Given the description of an element on the screen output the (x, y) to click on. 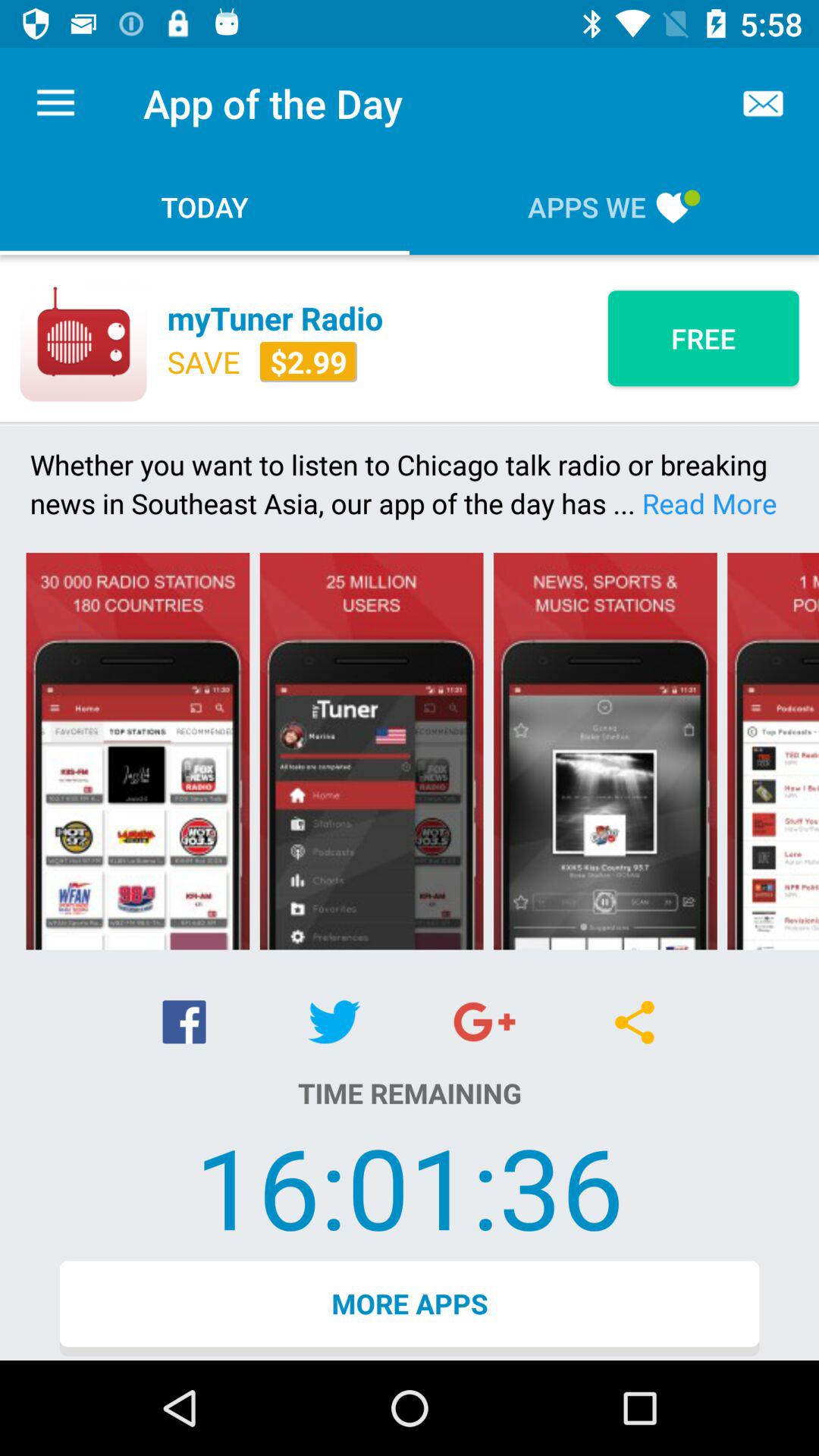
scroll to the more apps (409, 1308)
